Given the description of an element on the screen output the (x, y) to click on. 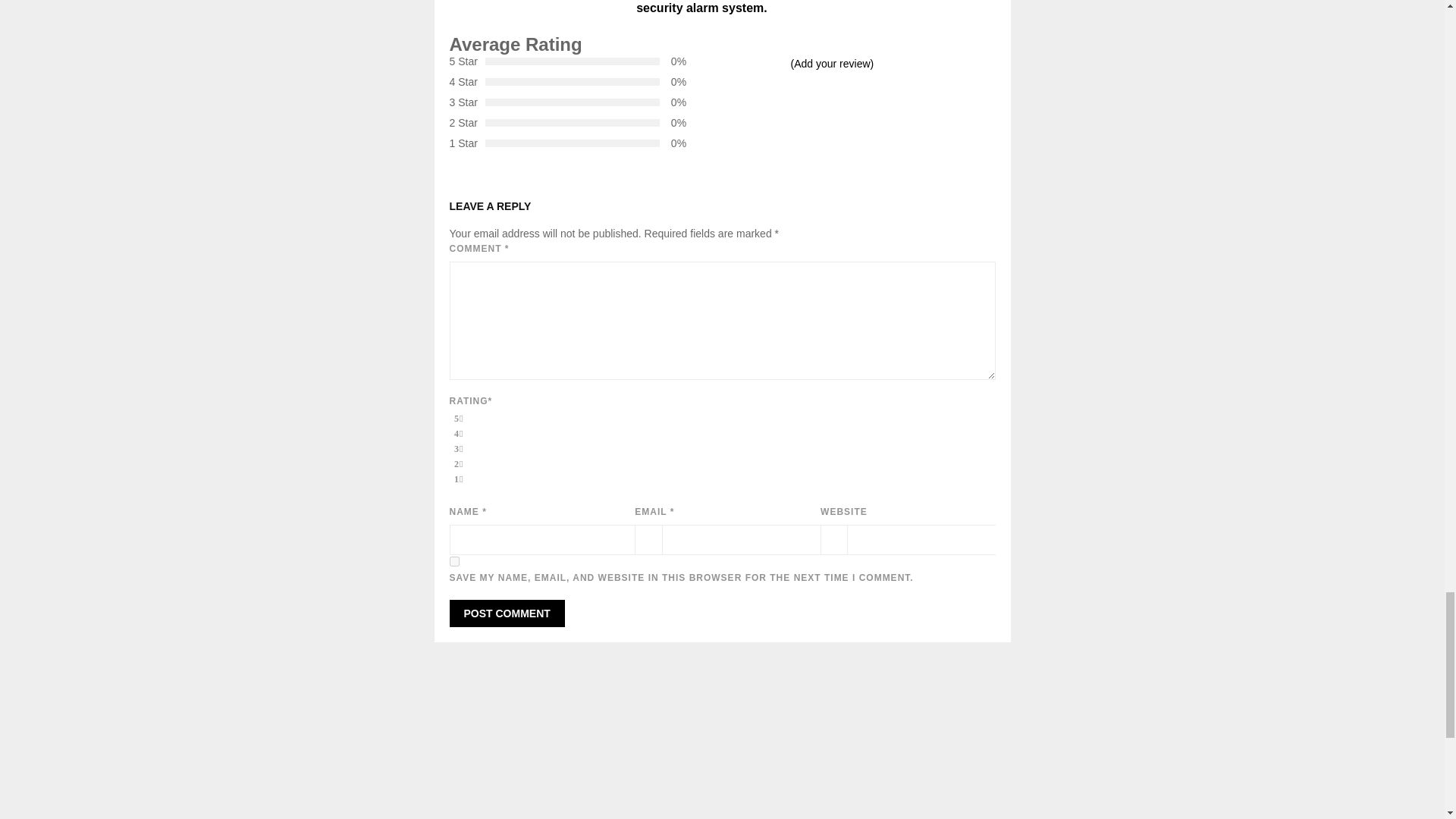
yes (453, 561)
Post Comment (506, 613)
